Given the description of an element on the screen output the (x, y) to click on. 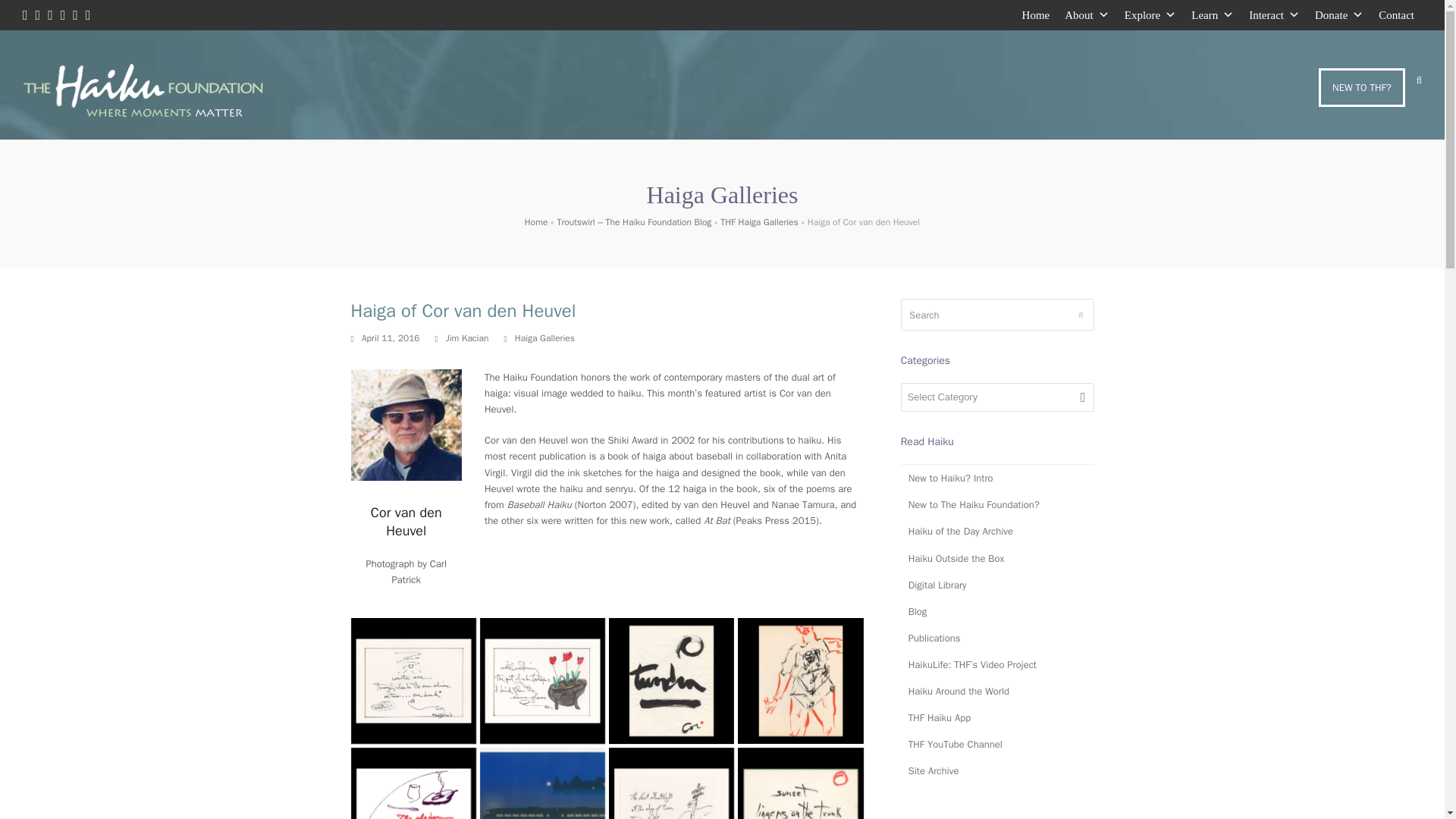
tundra (670, 680)
sunset (800, 783)
wintersea2 (413, 680)
thelaststreetlight3x (542, 783)
Posts by Jim Kacian (466, 337)
thelaststreetlight (670, 783)
theshadow (413, 783)
whilewatering (542, 680)
torso (800, 680)
thf-corvandenheuvel (405, 424)
